Given the description of an element on the screen output the (x, y) to click on. 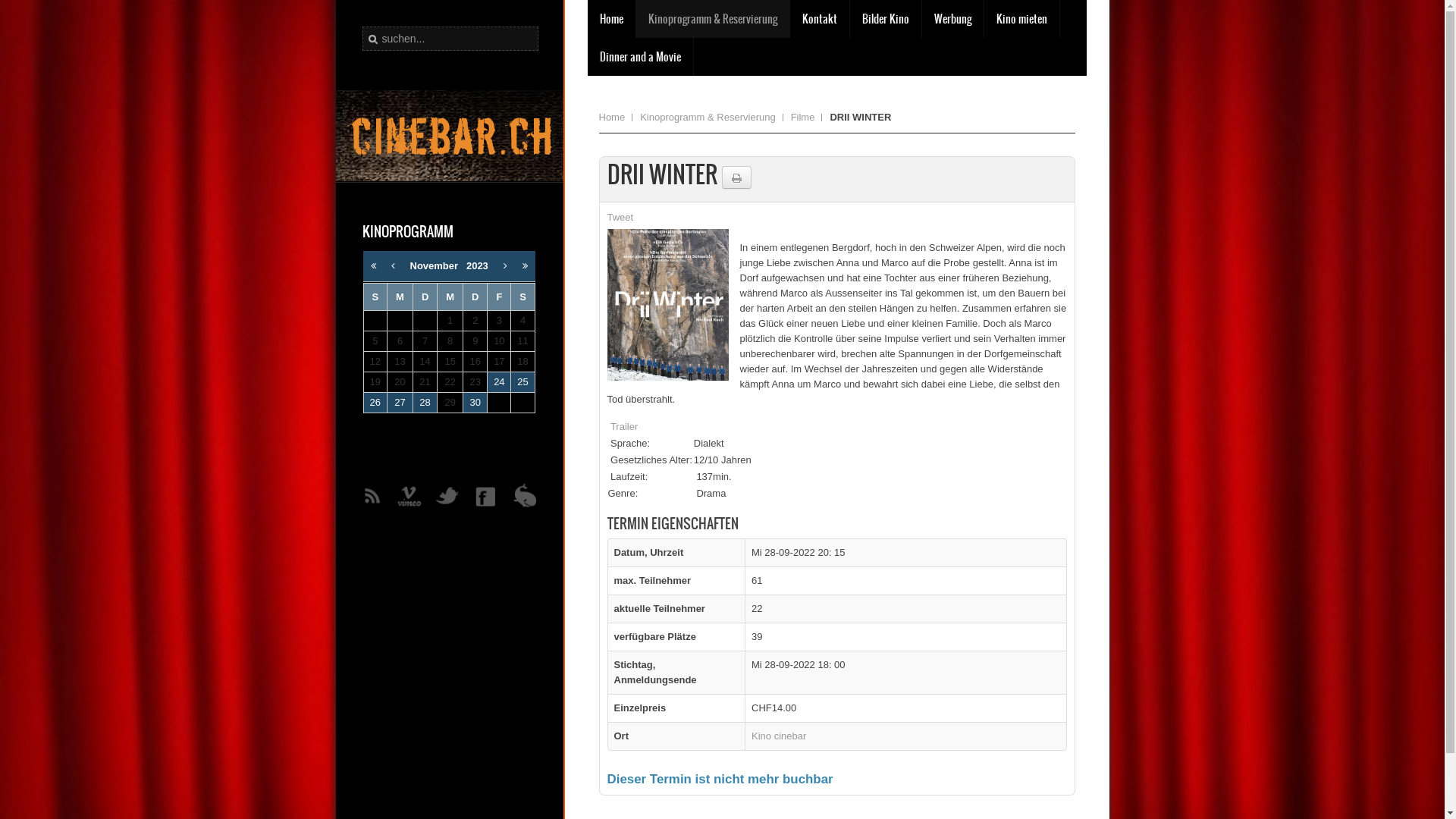
Bilder Kino Element type: text (884, 18)
25 Element type: text (522, 381)
Kino mieten Element type: text (1021, 18)
Home Element type: text (616, 117)
Kontakt Element type: text (819, 18)
November   Element type: text (437, 265)
2023 Element type: text (477, 265)
Kinoprogramm & Reservierung Element type: text (711, 117)
Home Element type: text (610, 18)
Werbung Element type: text (952, 18)
26 Element type: text (375, 401)
24 Element type: text (498, 381)
Reset Element type: text (3, 3)
Kinoprogramm & Reservierung Element type: text (711, 18)
Tweet Element type: text (619, 216)
30 Element type: text (475, 401)
28 Element type: text (424, 401)
Trailer Element type: text (623, 425)
Social Element type: hover (449, 497)
Kino cinebar Element type: text (778, 734)
Filme Element type: text (806, 117)
27 Element type: text (399, 401)
Dinner and a Movie Element type: text (639, 56)
